Given the description of an element on the screen output the (x, y) to click on. 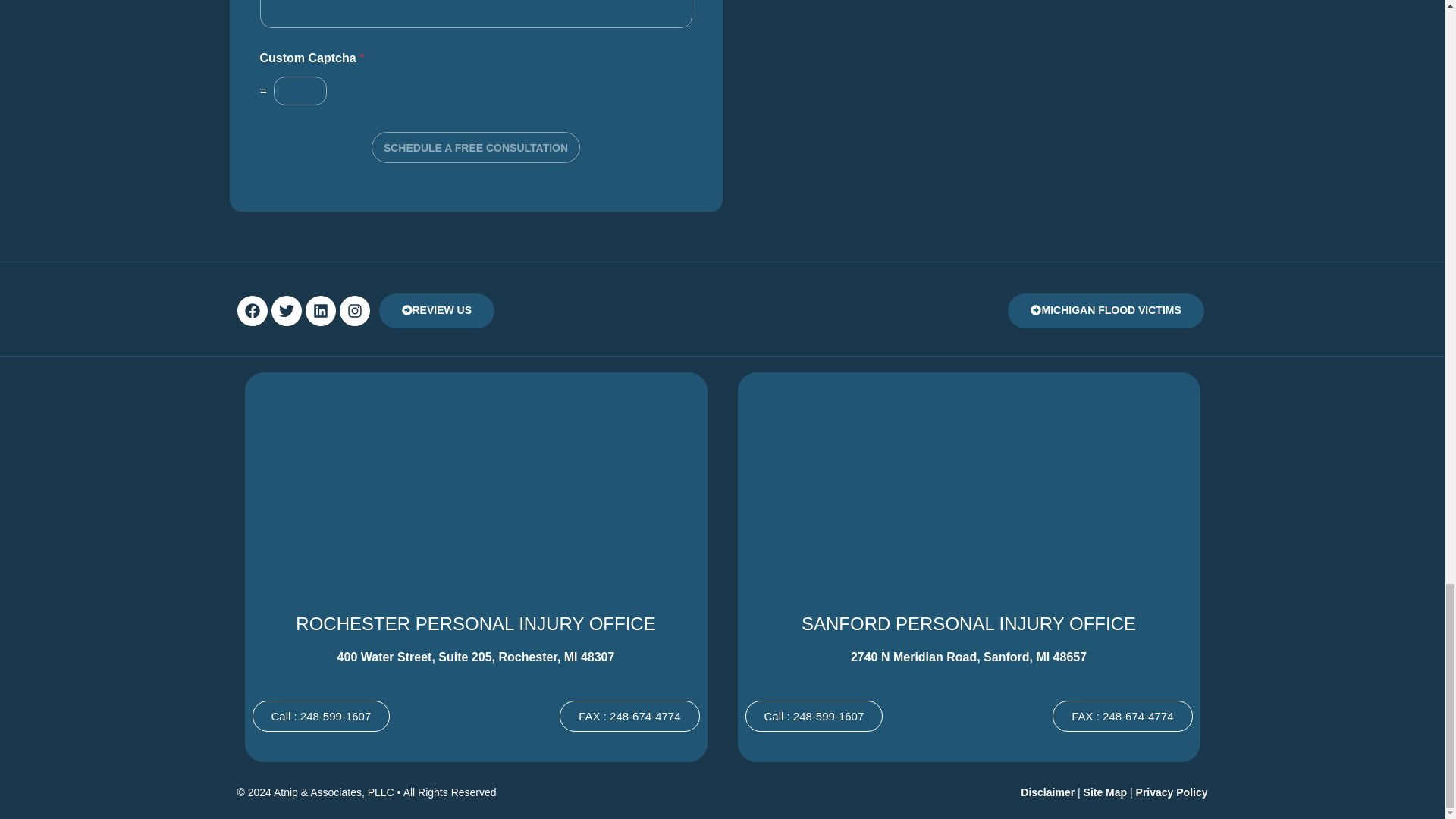
2740 N Meridian Road Sanford, MI 48657 (967, 485)
400 Water Street Suite 205 Rochester, MI 48307 (475, 485)
